Given the description of an element on the screen output the (x, y) to click on. 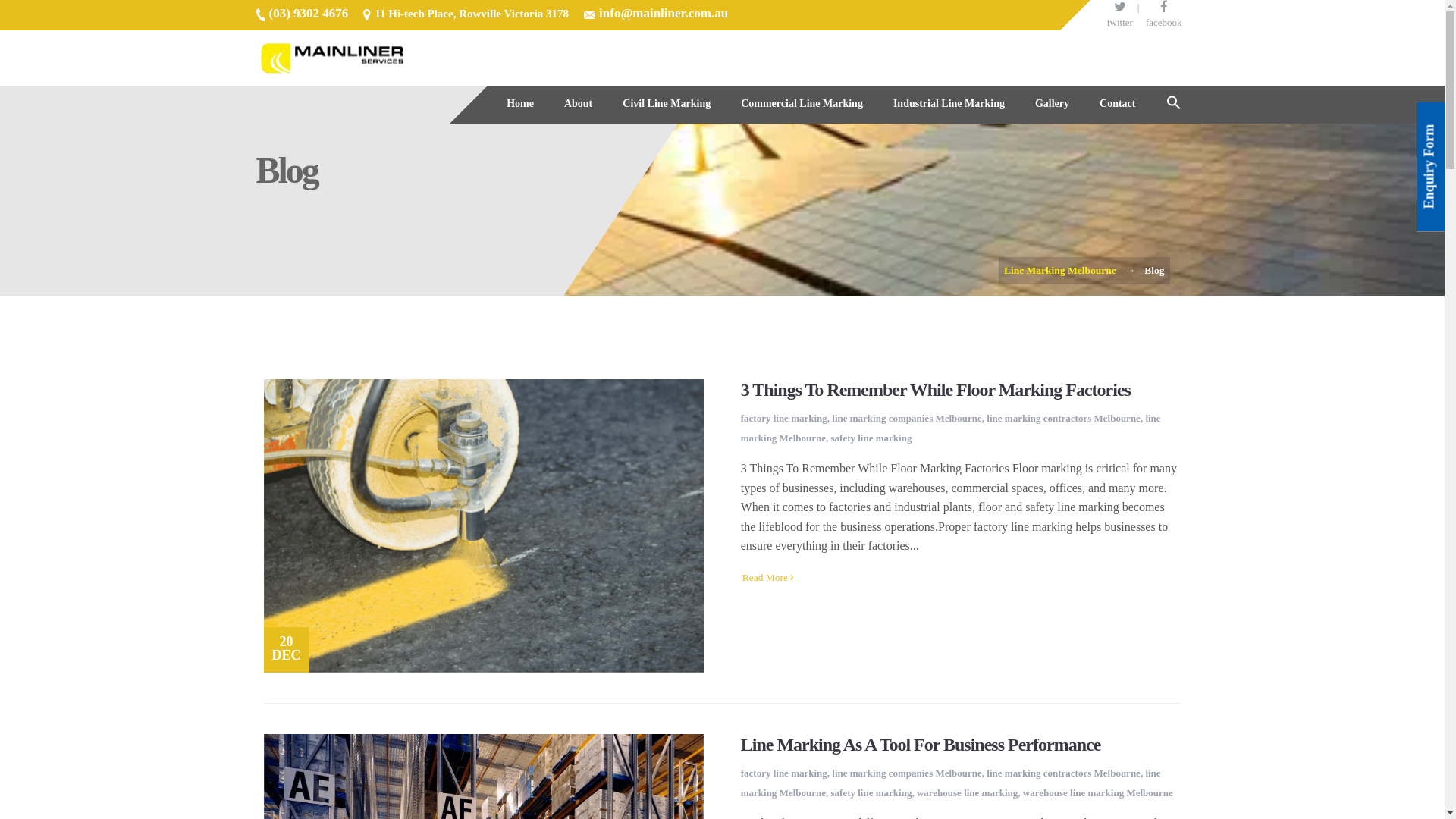
safety line marking Element type: text (871, 437)
Line Marking As A Tool For Business Performance Element type: text (920, 744)
twitter Element type: text (1119, 14)
info@mainliner.com.au Element type: text (663, 13)
line marking Melbourne Element type: text (950, 427)
factory line marking Element type: text (783, 772)
Read More Element type: text (767, 576)
line marking contractors Melbourne Element type: text (1063, 417)
line marking companies Melbourne Element type: text (906, 772)
Contact Element type: text (1117, 103)
line marking companies Melbourne Element type: text (906, 417)
Line Marking Melbourne Element type: text (1060, 270)
safety line marking Element type: text (871, 792)
11 Hi-tech Place, Rowville Victoria 3178 Element type: text (471, 13)
warehouse line marking Melbourne Element type: text (1097, 792)
Commercial Line Marking Element type: text (801, 103)
Industrial Line Marking Element type: text (948, 103)
Home Element type: text (519, 103)
About Element type: text (577, 103)
Gallery Element type: text (1051, 103)
line marking contractors Melbourne Element type: text (1063, 772)
Civil Line Marking Element type: text (666, 103)
factory line marking Element type: text (783, 417)
warehouse line marking Element type: text (966, 792)
20
DEC Element type: text (483, 525)
3 Things To Remember While Floor Marking Factories Element type: text (935, 389)
facebook Element type: text (1163, 14)
(03) 9302 4676 Element type: text (308, 13)
line marking Melbourne Element type: text (950, 782)
